Given the description of an element on the screen output the (x, y) to click on. 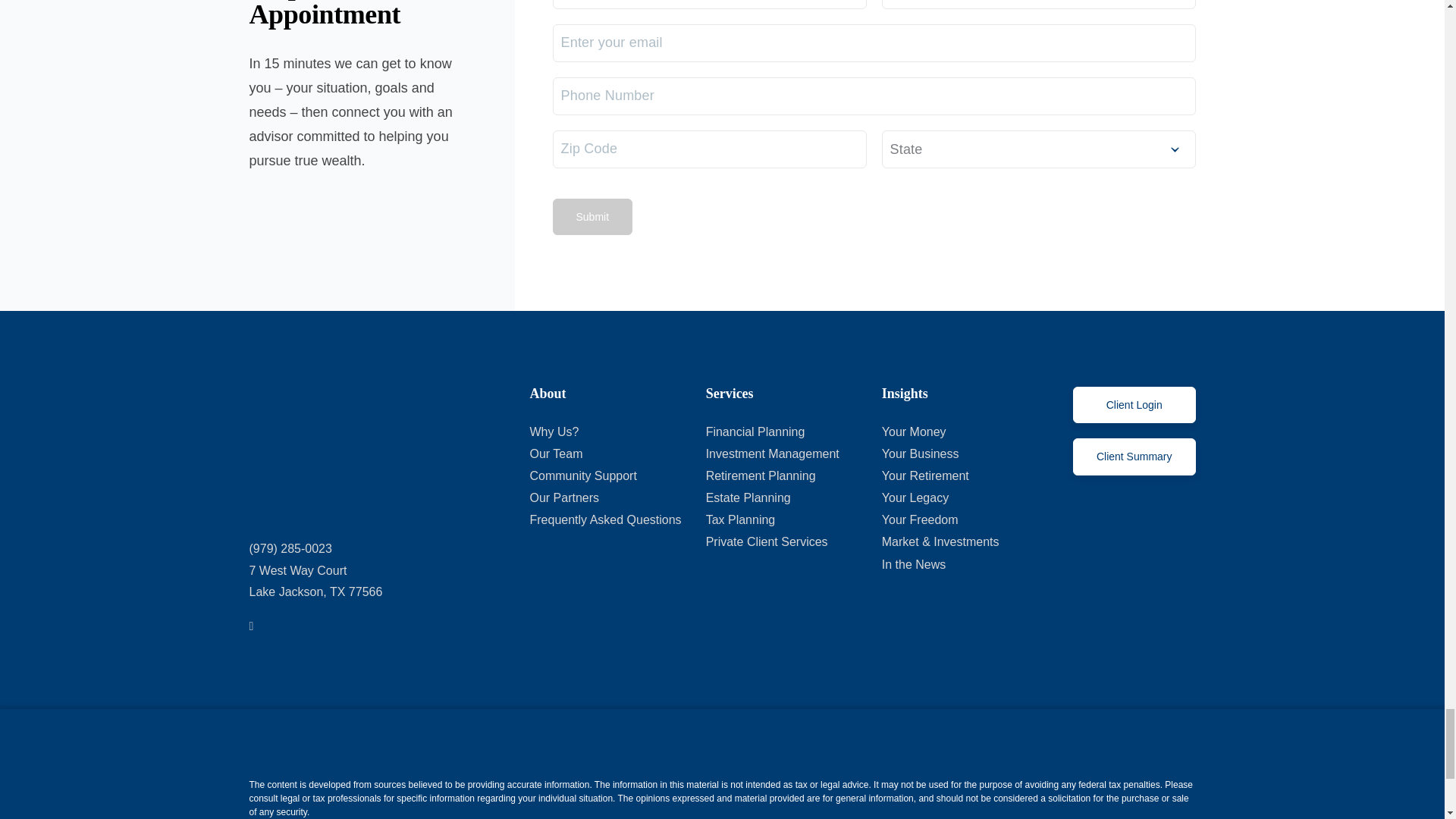
Submit (591, 217)
